Given the description of an element on the screen output the (x, y) to click on. 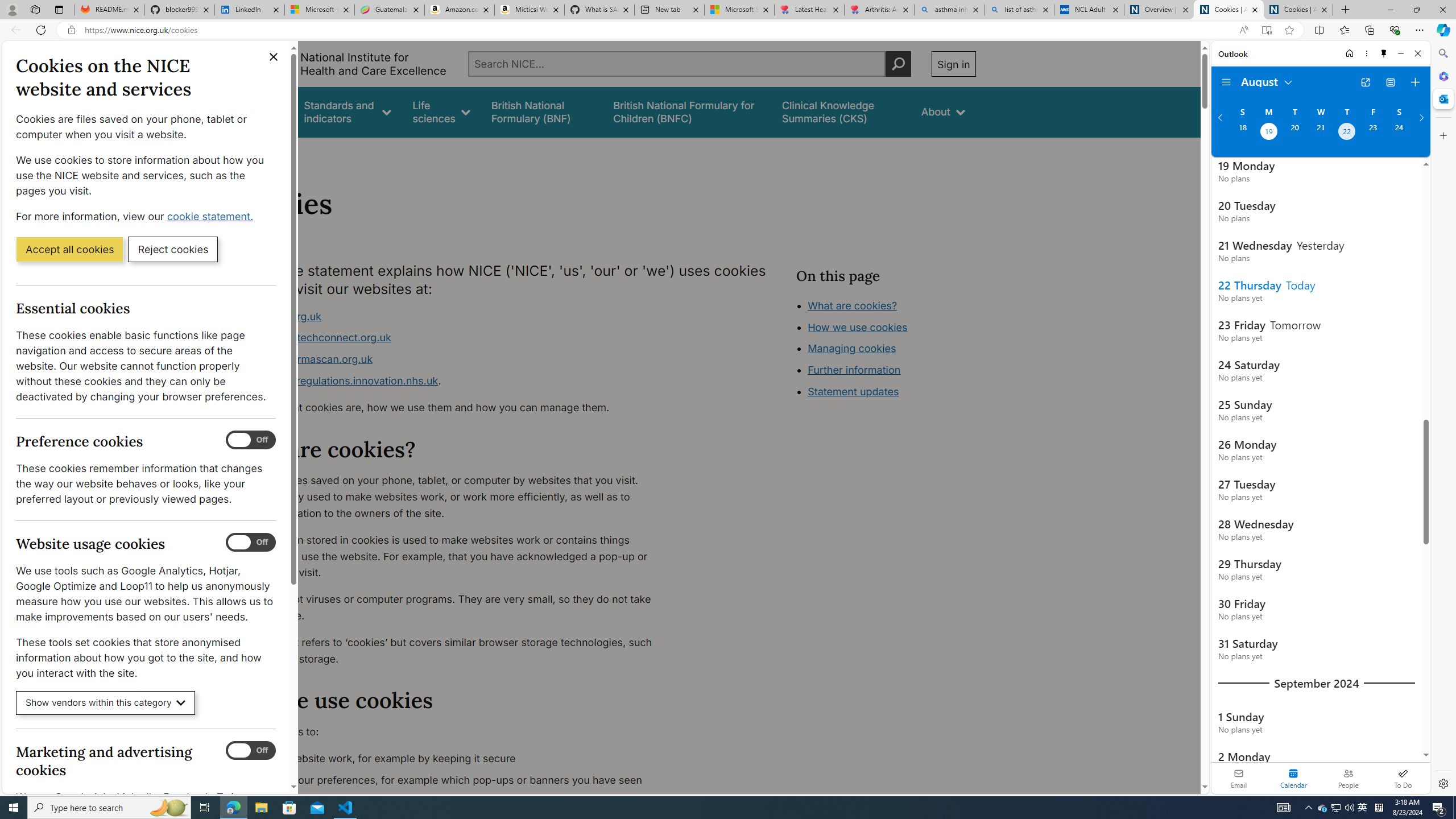
Guidance (260, 111)
View Switcher. Current view is Agenda view (1390, 82)
Life sciences (440, 111)
Email (1238, 777)
Guidance (260, 111)
Sunday, August 18, 2024.  (1242, 132)
